Given the description of an element on the screen output the (x, y) to click on. 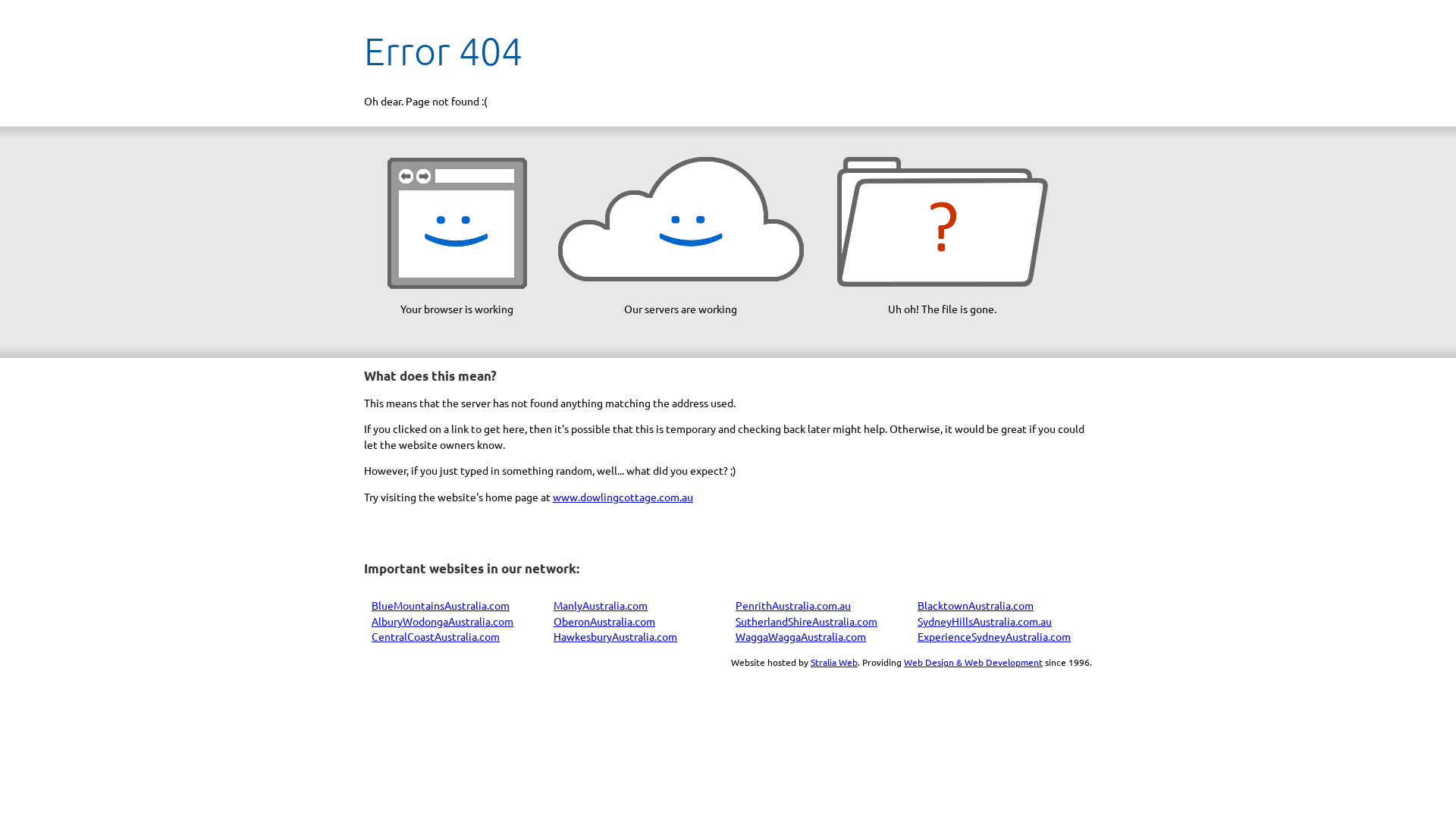
ManlyAustralia.com Element type: text (600, 604)
Web Design & Web Development Element type: text (972, 661)
WaggaWaggaAustralia.com Element type: text (800, 636)
OberonAustralia.com Element type: text (604, 620)
BlueMountainsAustralia.com Element type: text (440, 604)
HawkesburyAustralia.com Element type: text (615, 636)
PenrithAustralia.com.au Element type: text (792, 604)
SutherlandShireAustralia.com Element type: text (806, 620)
BlacktownAustralia.com Element type: text (975, 604)
Stralia Web Element type: text (833, 661)
SydneyHillsAustralia.com.au Element type: text (984, 620)
www.dowlingcottage.com.au Element type: text (622, 496)
CentralCoastAustralia.com Element type: text (435, 636)
AlburyWodongaAustralia.com Element type: text (442, 620)
ExperienceSydneyAustralia.com Element type: text (993, 636)
